Given the description of an element on the screen output the (x, y) to click on. 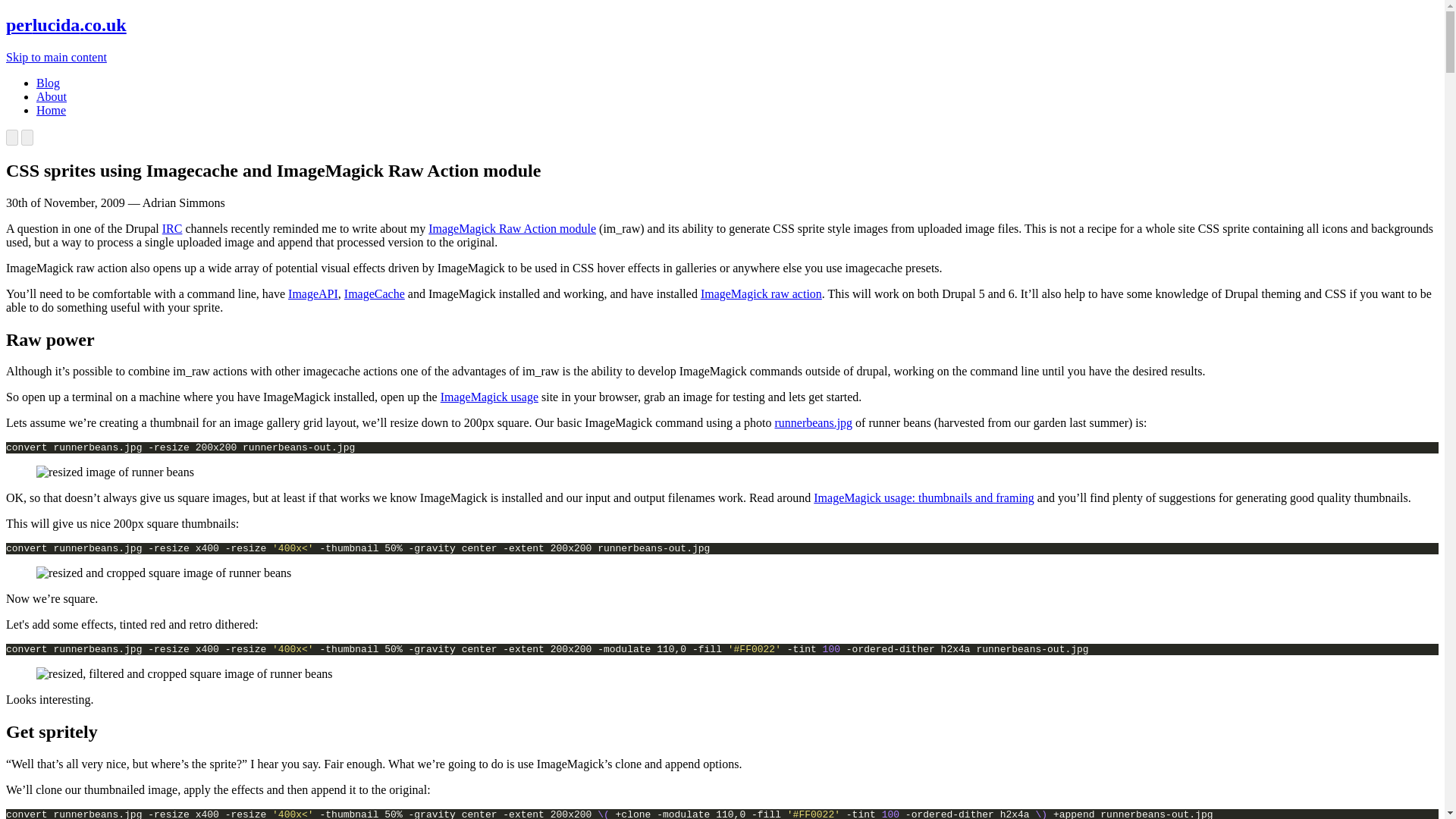
perlucida.co.uk (65, 25)
ImageMagick usage (489, 396)
About (51, 96)
runnerbeans.jpg (812, 422)
Home (50, 110)
Turn light mode on (27, 137)
ImageMagick raw action (761, 293)
ImageCache (373, 293)
Blog (47, 82)
ImageAPI (312, 293)
ImageMagick usage: thumbnails and framing (923, 497)
Turn dark mode on (11, 137)
Return to home (65, 25)
